Given the description of an element on the screen output the (x, y) to click on. 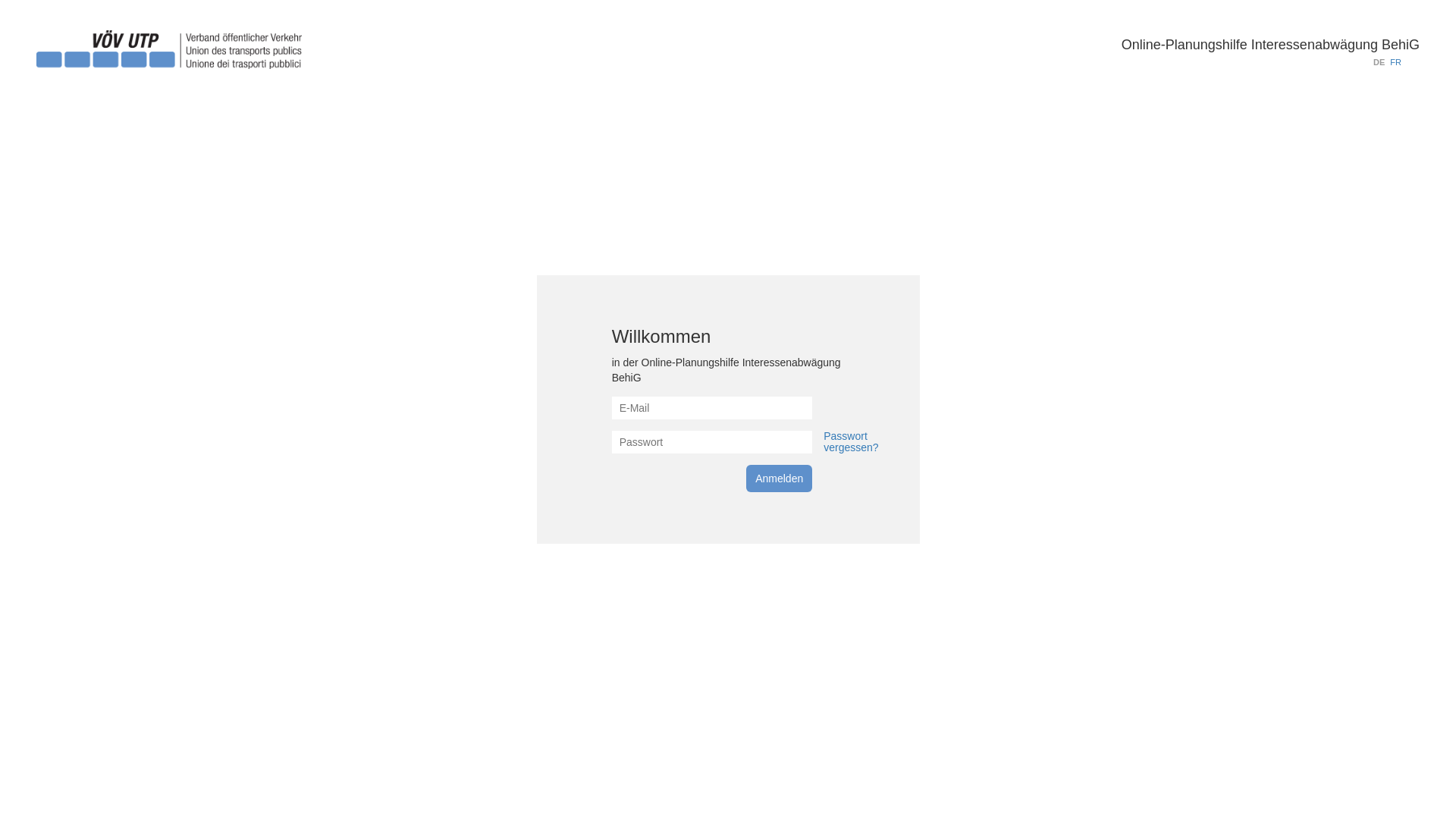
FR Element type: text (1395, 61)
DE Element type: text (1378, 61)
Anmelden Element type: text (779, 478)
Passwort vergessen? Element type: text (850, 441)
